Given the description of an element on the screen output the (x, y) to click on. 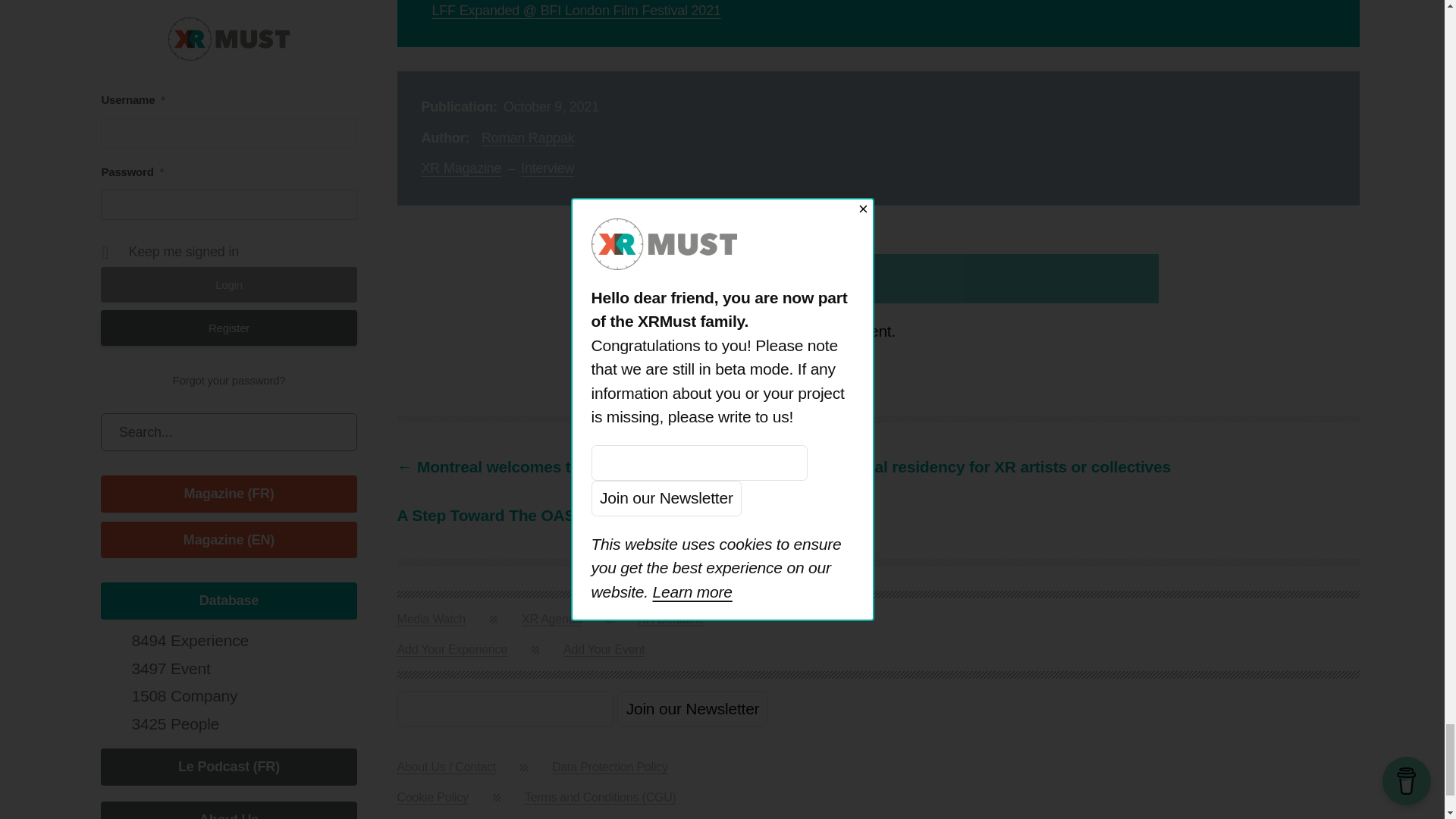
Join our Newsletter (692, 708)
